Given the description of an element on the screen output the (x, y) to click on. 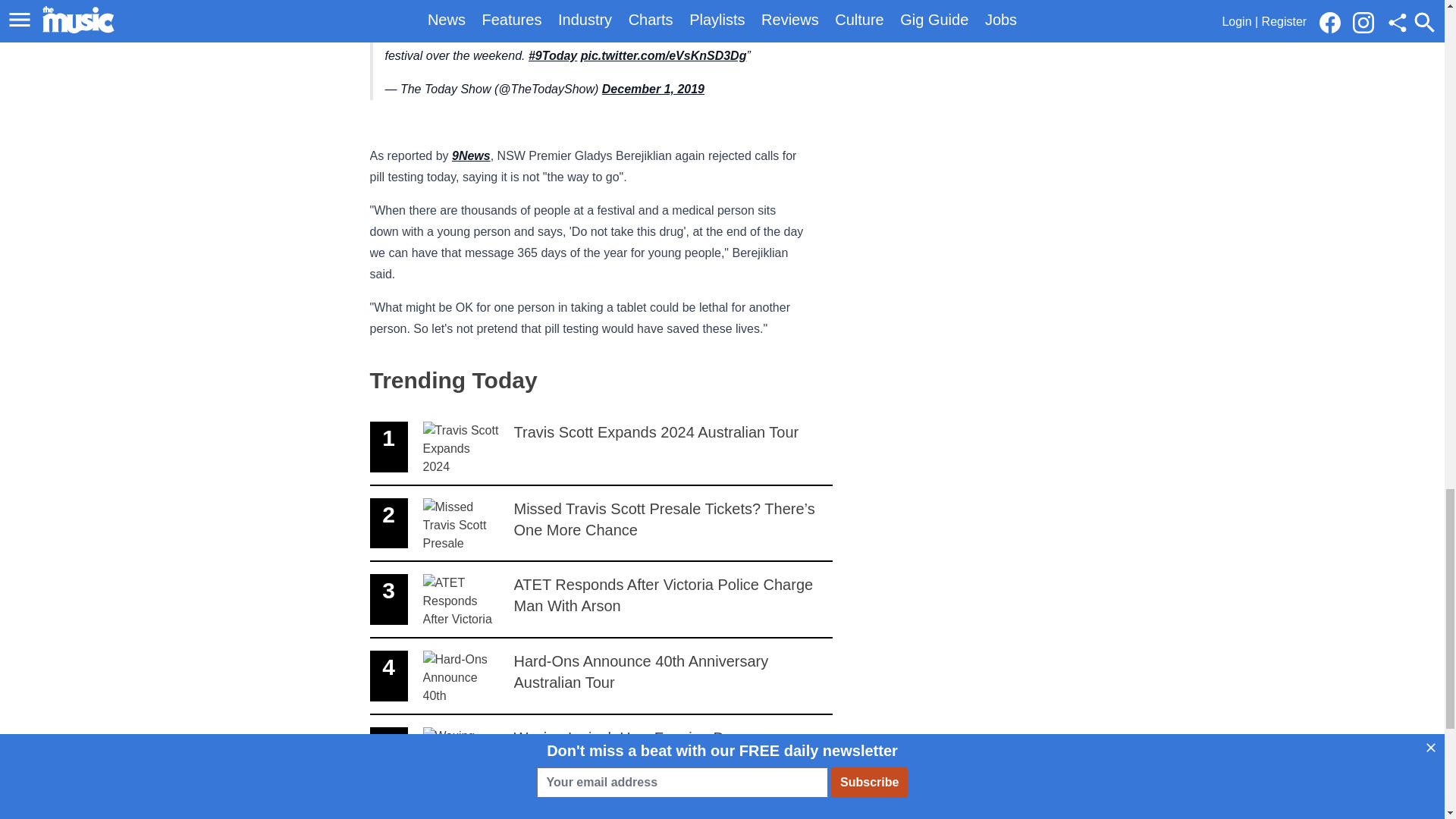
9News (600, 676)
December 1, 2019 (600, 447)
